Given the description of an element on the screen output the (x, y) to click on. 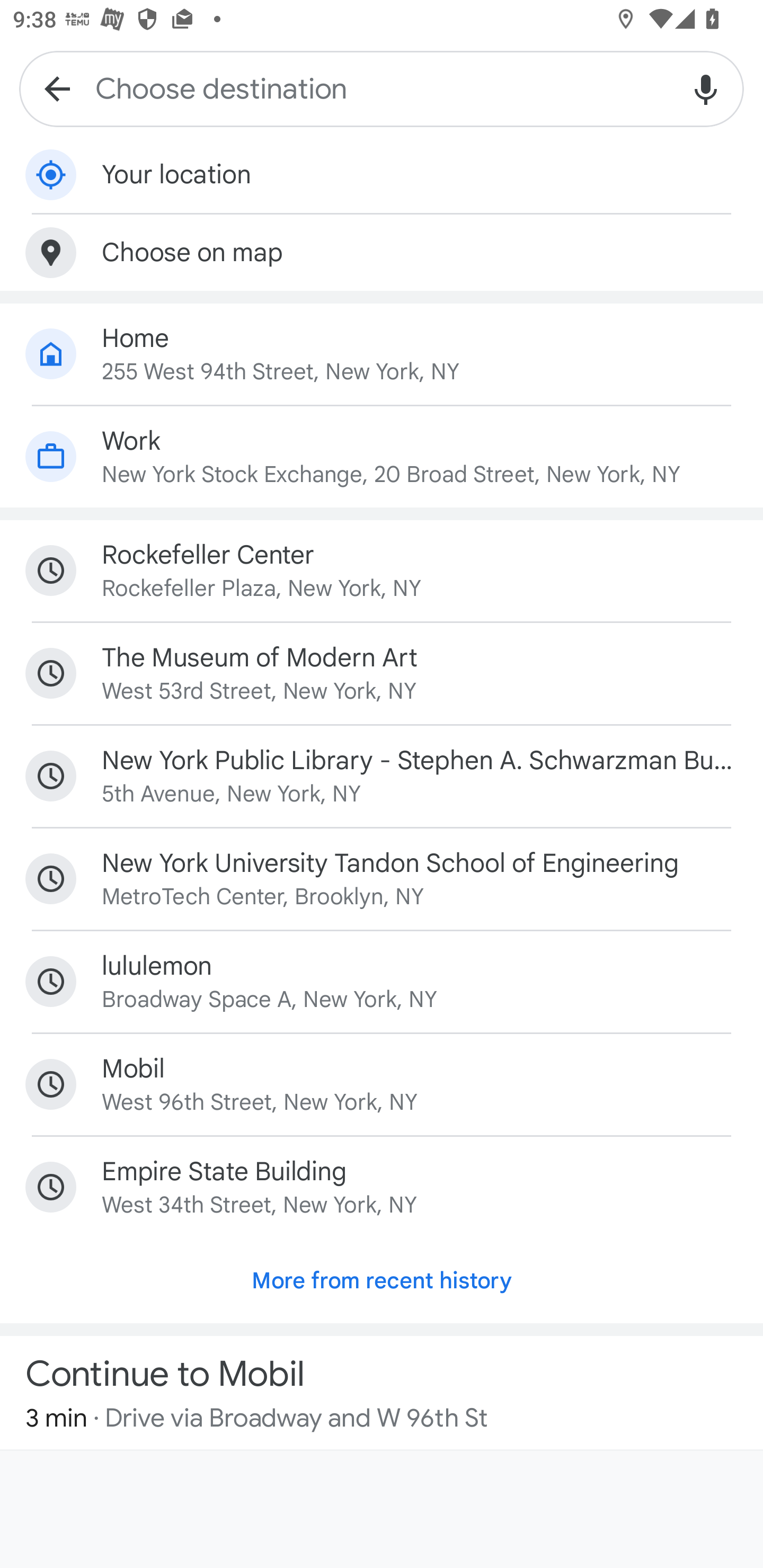
Navigate up (57, 88)
Choose destination (381, 88)
Voice search (705, 88)
Your location (381, 174)
Choose on map (381, 252)
Home 255 West 94th Street, New York, NY (381, 354)
Rockefeller Center Rockefeller Plaza, New York, NY (381, 570)
lululemon Broadway Space A, New York, NY (381, 981)
Mobil West 96th Street, New York, NY (381, 1084)
More from recent history (381, 1280)
